Given the description of an element on the screen output the (x, y) to click on. 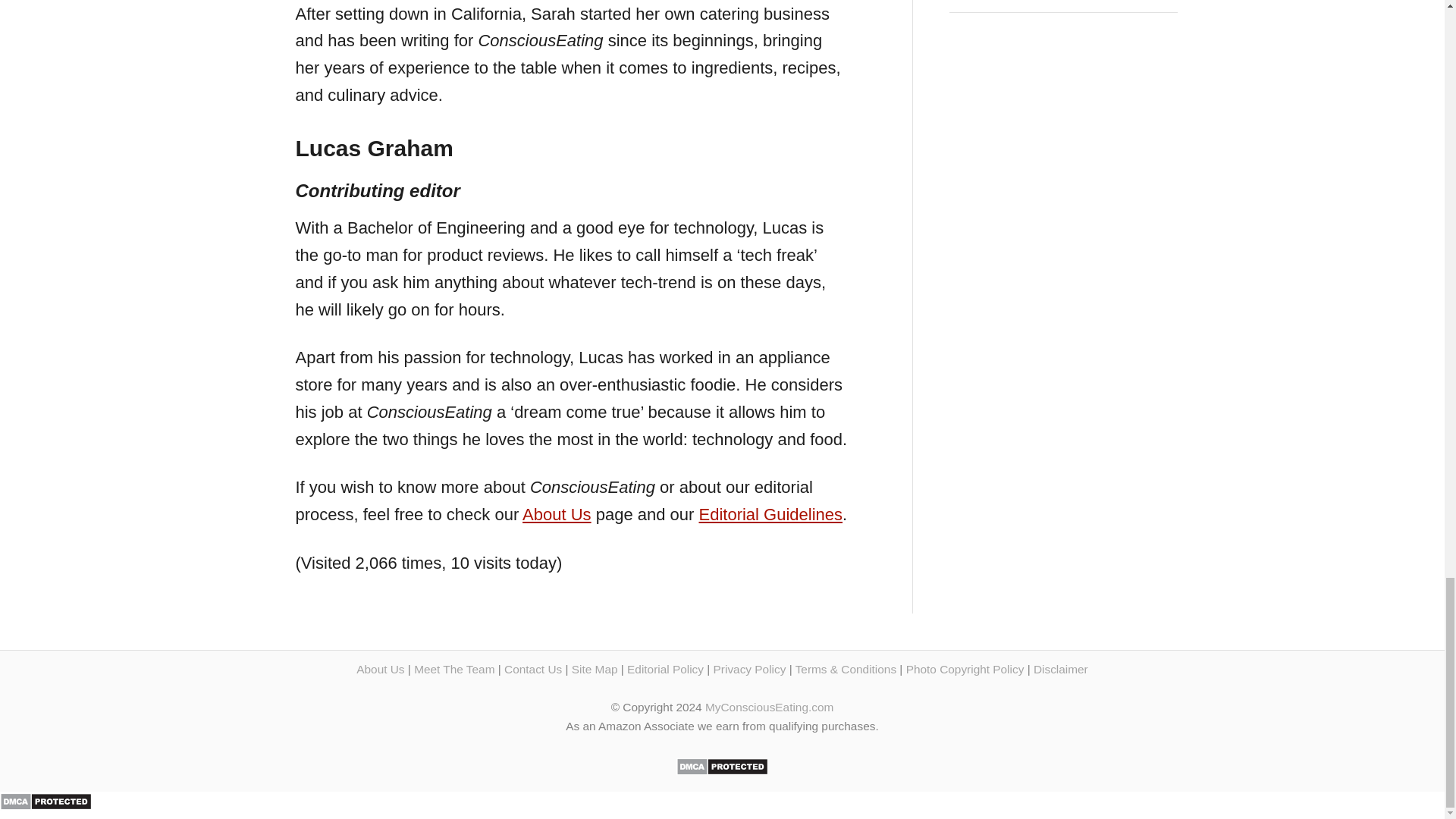
About Us (556, 514)
DMCA.com Protection Status (722, 770)
Editorial Guidelines (770, 514)
DMCA.com Protection Status (45, 804)
